Given the description of an element on the screen output the (x, y) to click on. 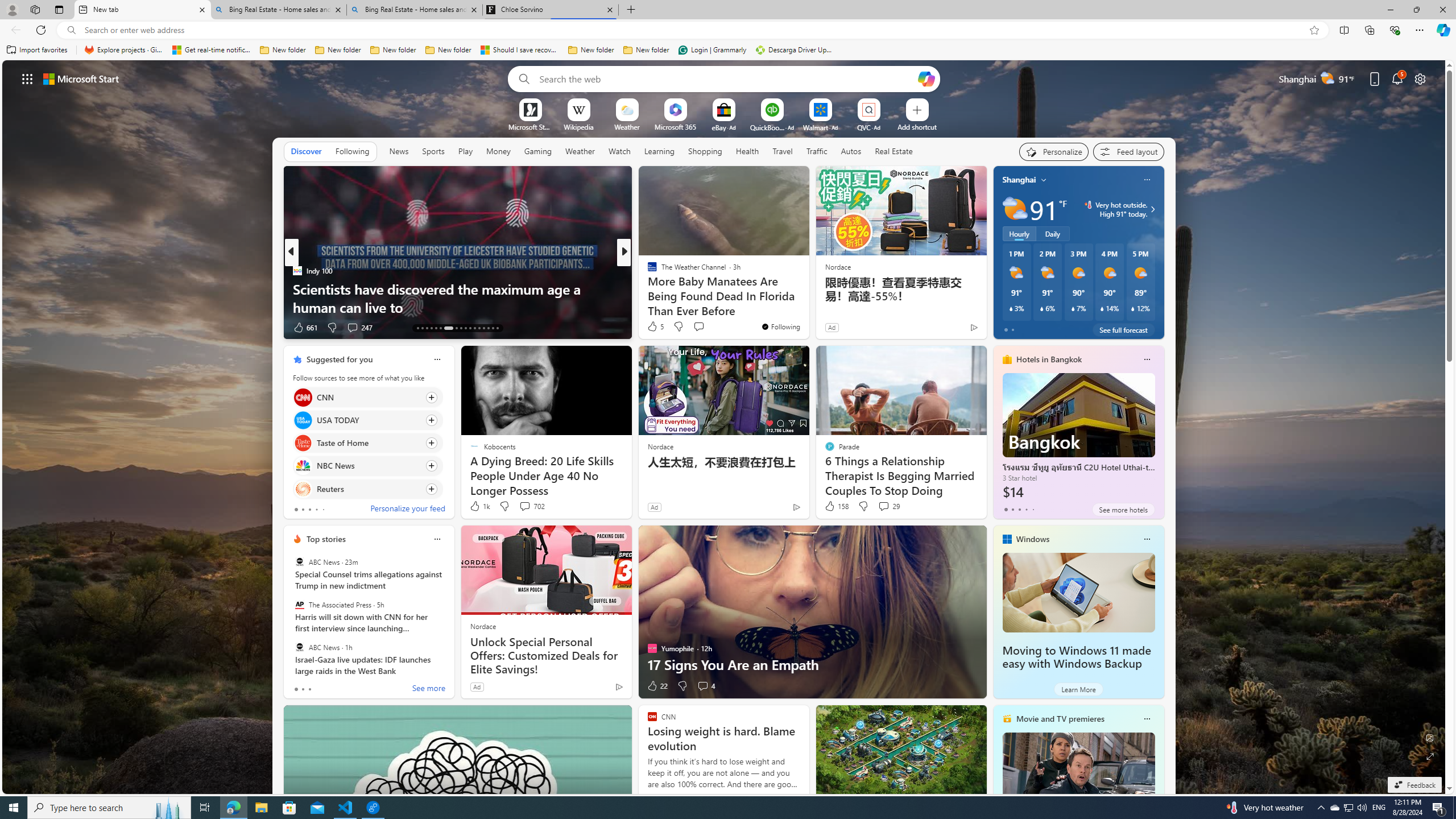
View comments 247 Comment (359, 327)
Personalize your feed" (1054, 151)
My location (1043, 179)
View comments 29 Comment (888, 505)
661 Like (304, 327)
AutomationID: tab-41 (492, 328)
AutomationID: tab-20 (456, 328)
View comments 4 Comment (703, 685)
